Given the description of an element on the screen output the (x, y) to click on. 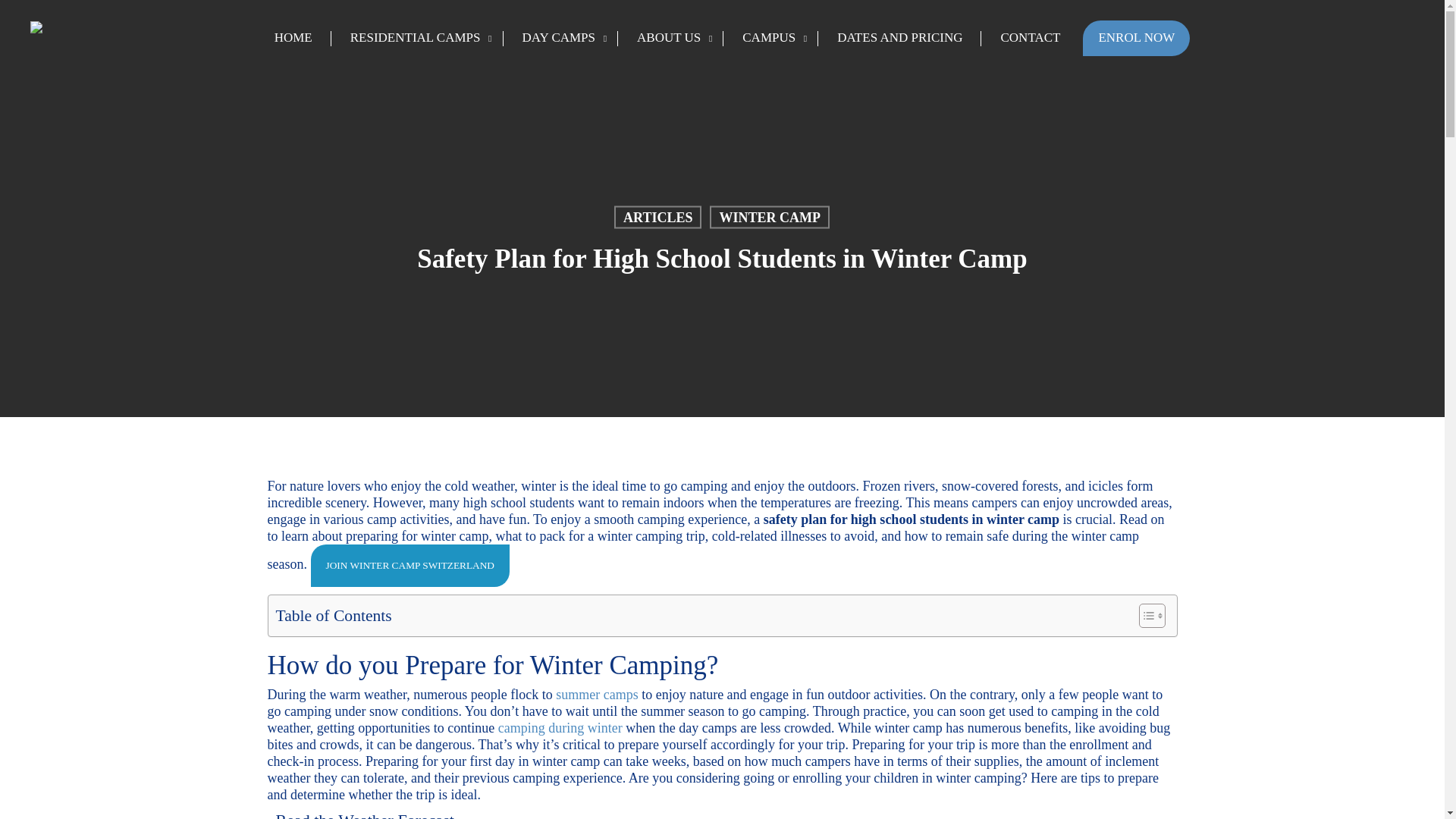
RESIDENTIAL CAMPS (416, 38)
HOME (293, 38)
